Given the description of an element on the screen output the (x, y) to click on. 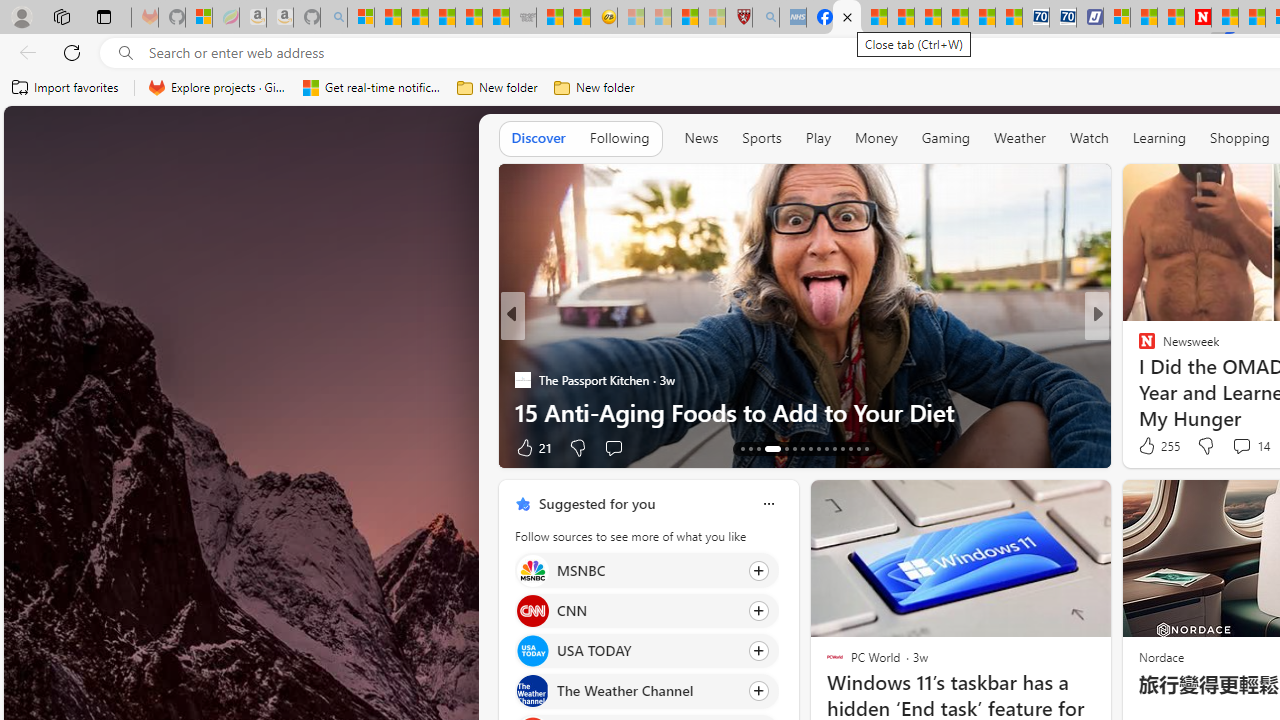
Metro (1138, 347)
Click to follow source The Weather Channel (646, 691)
View comments 14 Comment (1249, 446)
Robert H. Shmerling, MD - Harvard Health (738, 17)
New Report Confirms 2023 Was Record Hot | Watch (468, 17)
AutomationID: tab-72 (801, 448)
View comments 114 Comment (1247, 447)
Sports (761, 138)
Southern Living (1138, 347)
